Given the description of an element on the screen output the (x, y) to click on. 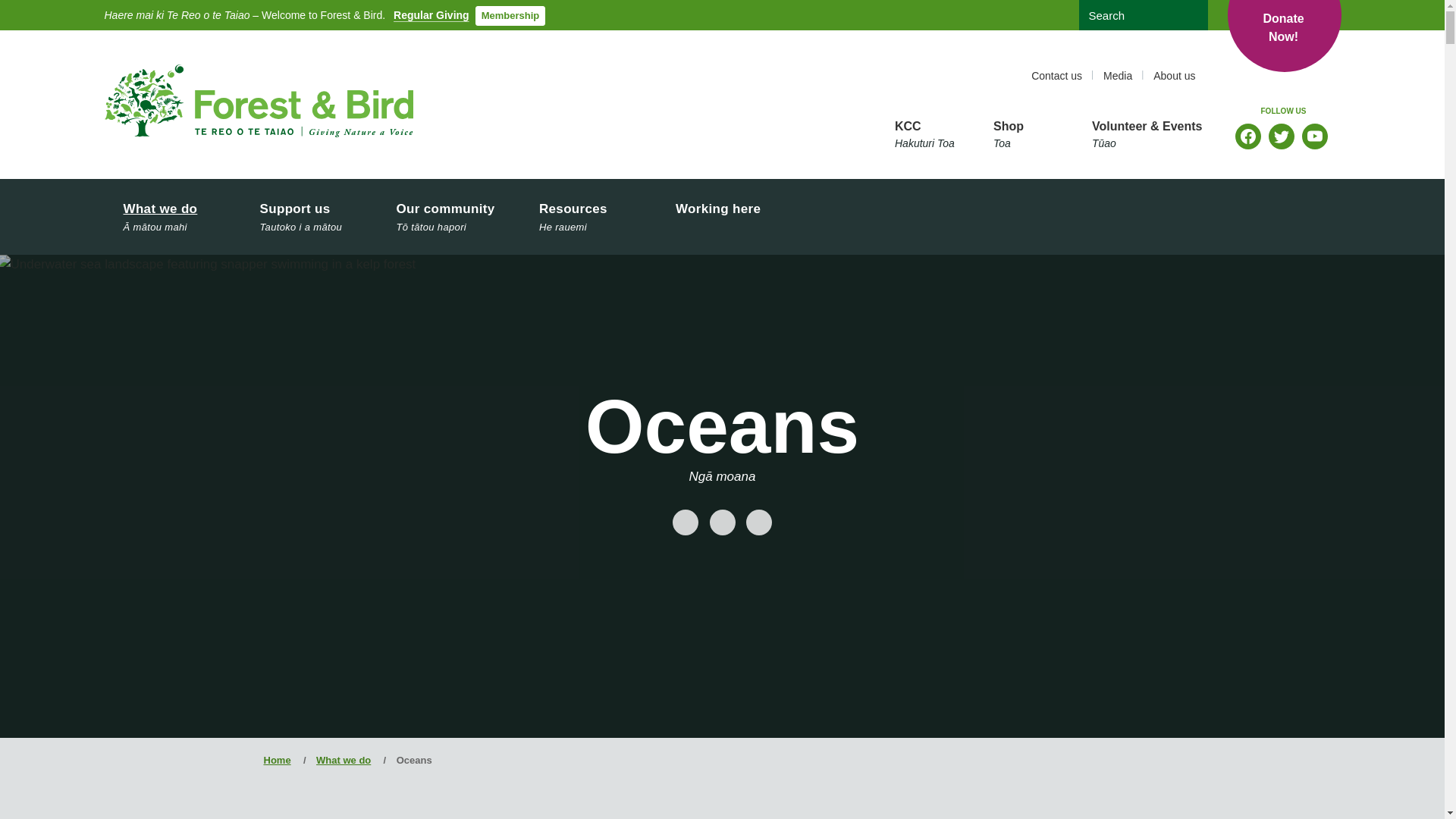
YouTube (1314, 136)
Support us (309, 216)
Home (258, 100)
What we do (172, 216)
Apply (1191, 15)
Skip to main content (727, 4)
Facebook (1247, 136)
Twitter (1281, 136)
Membership (511, 15)
Regular Giving (1283, 38)
